Given the description of an element on the screen output the (x, y) to click on. 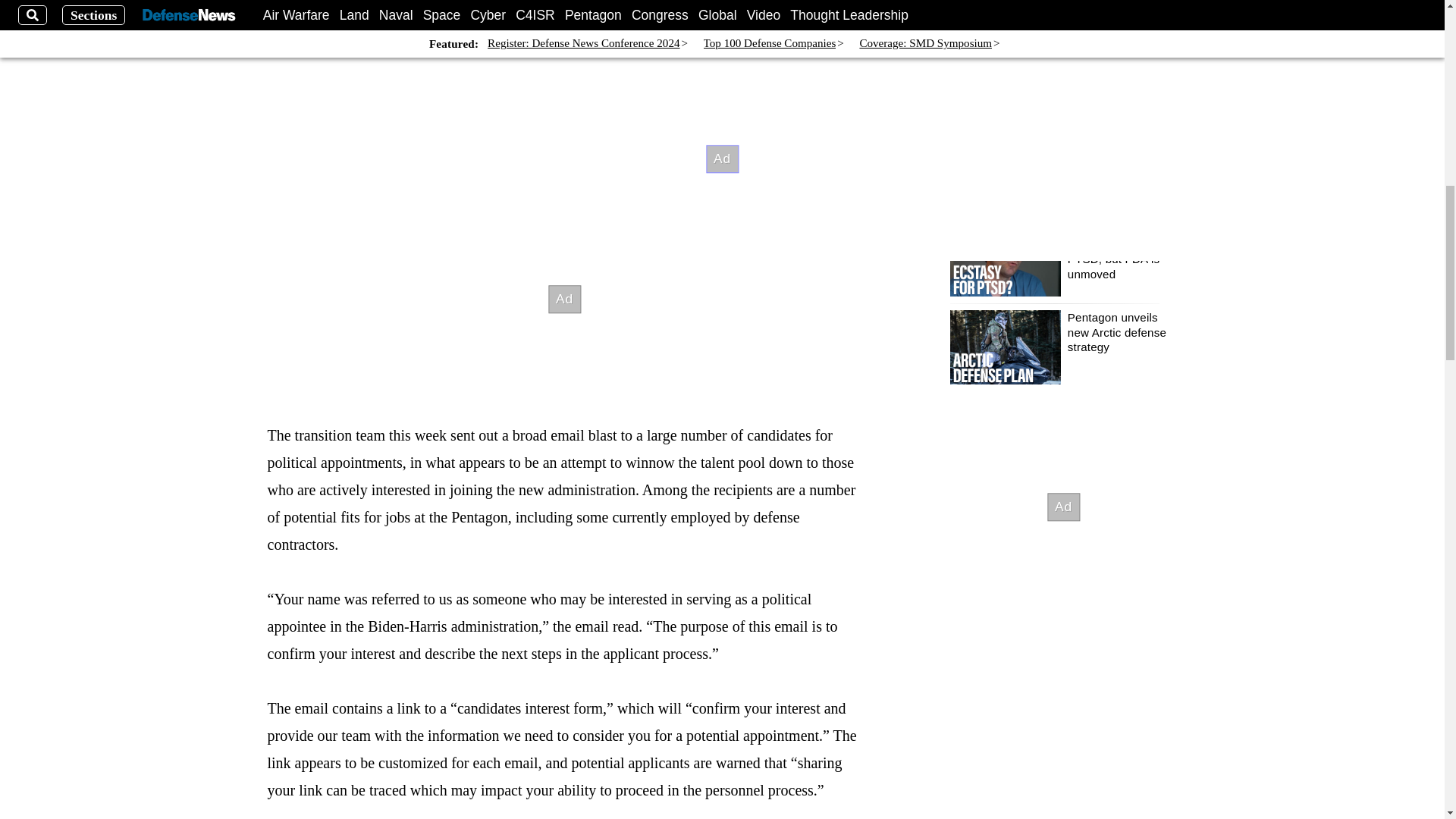
3rd party ad content (563, 298)
3rd party ad content (1062, 506)
